Given the description of an element on the screen output the (x, y) to click on. 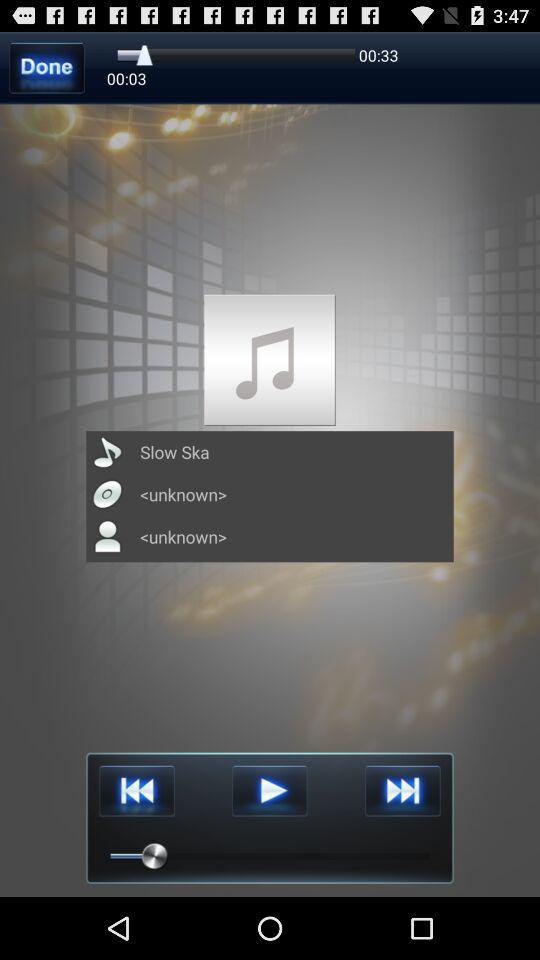
previous track (136, 790)
